Given the description of an element on the screen output the (x, y) to click on. 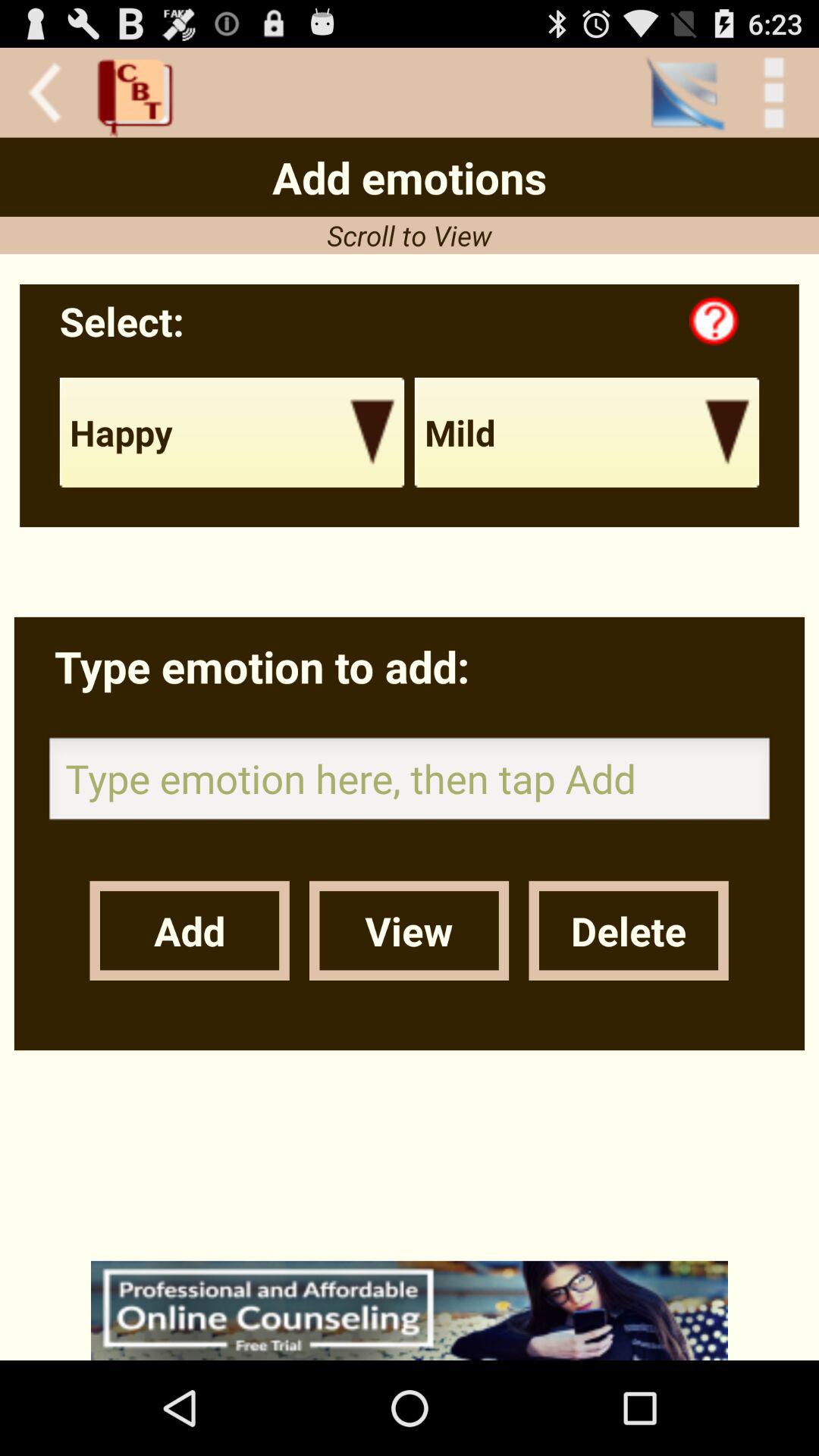
input box (409, 782)
